Given the description of an element on the screen output the (x, y) to click on. 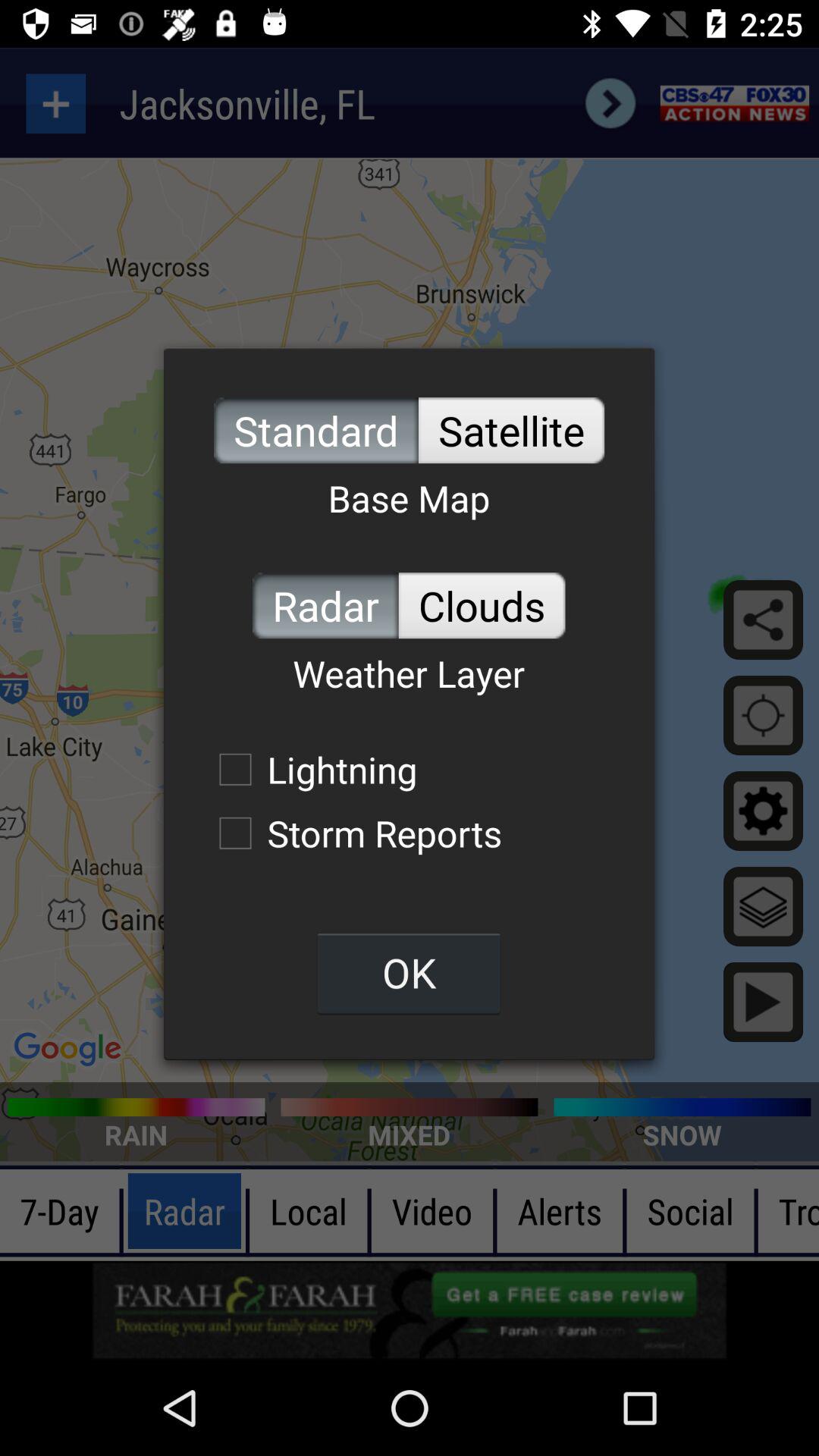
flip until satellite item (511, 430)
